Given the description of an element on the screen output the (x, y) to click on. 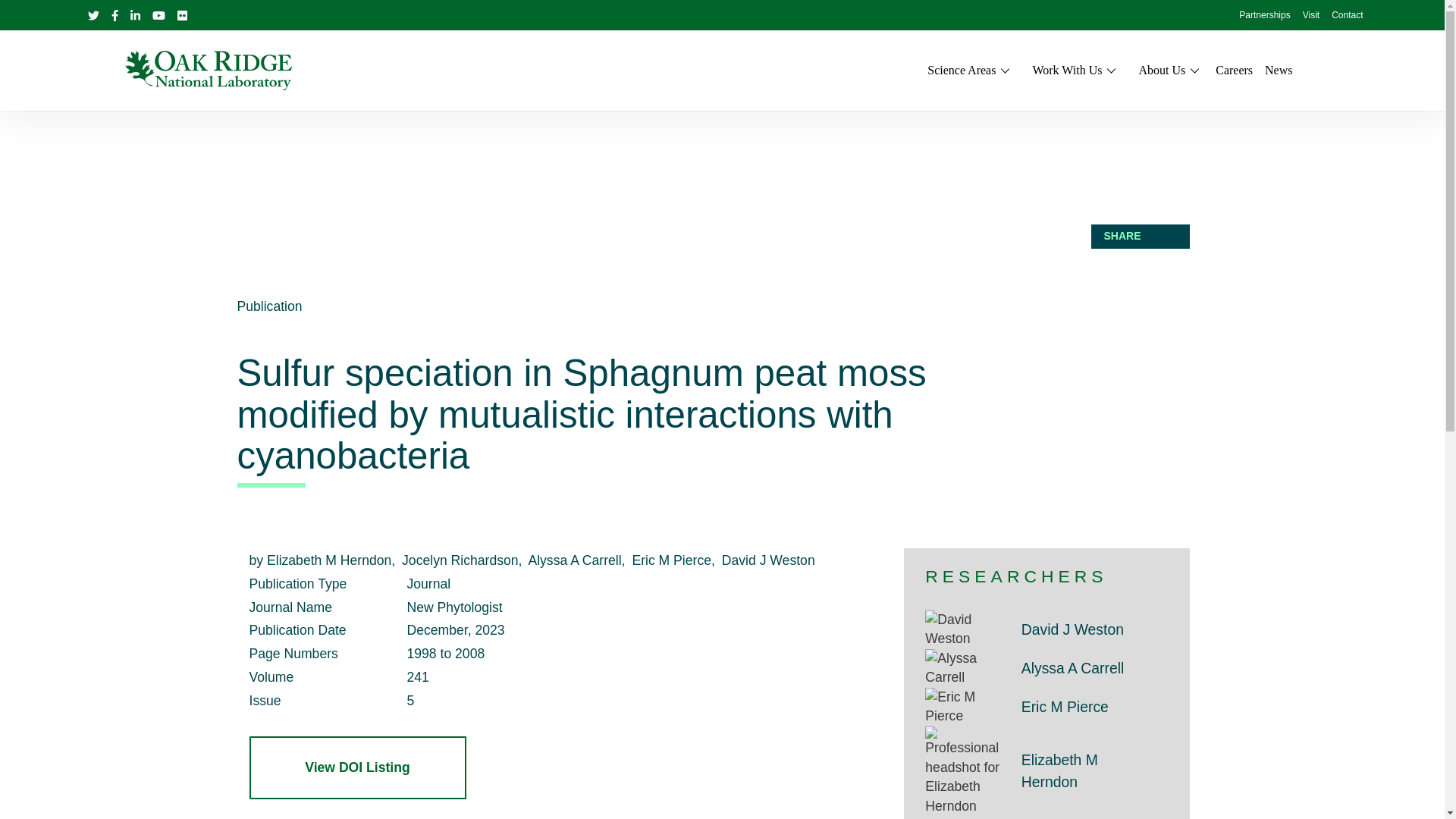
David Weston (965, 629)
Contact (1347, 15)
Partnerships (1264, 15)
View DOI Listing (356, 767)
David J Weston (1073, 629)
News (1278, 69)
Eric M Pierce (965, 706)
YouTube (158, 15)
Careers (1233, 69)
